Given the description of an element on the screen output the (x, y) to click on. 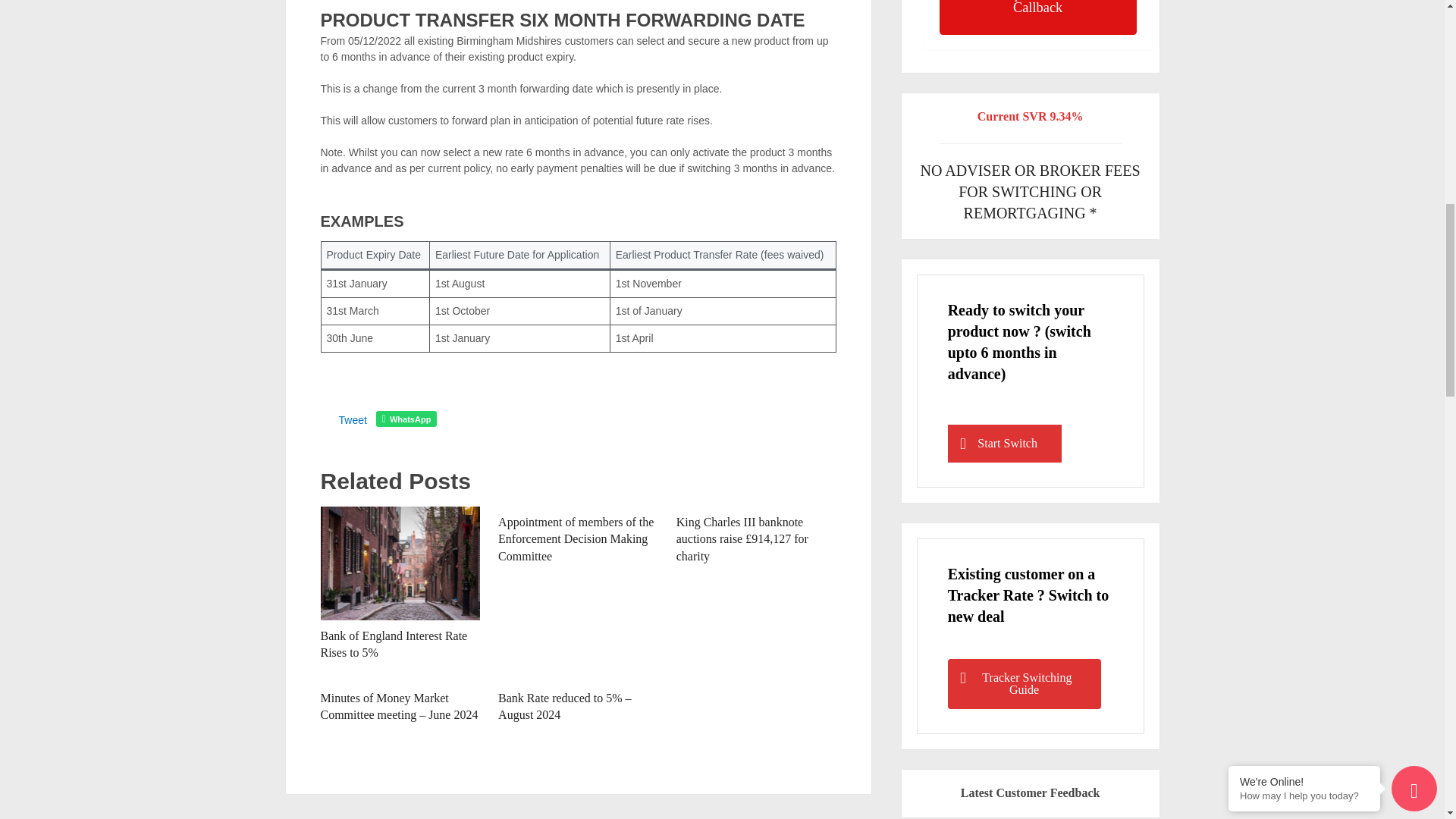
WhatsApp (406, 418)
Request Adviser Callback (1038, 17)
Start Switch (1004, 443)
Tweet (351, 419)
Tracker Switching Guide (1023, 684)
